Given the description of an element on the screen output the (x, y) to click on. 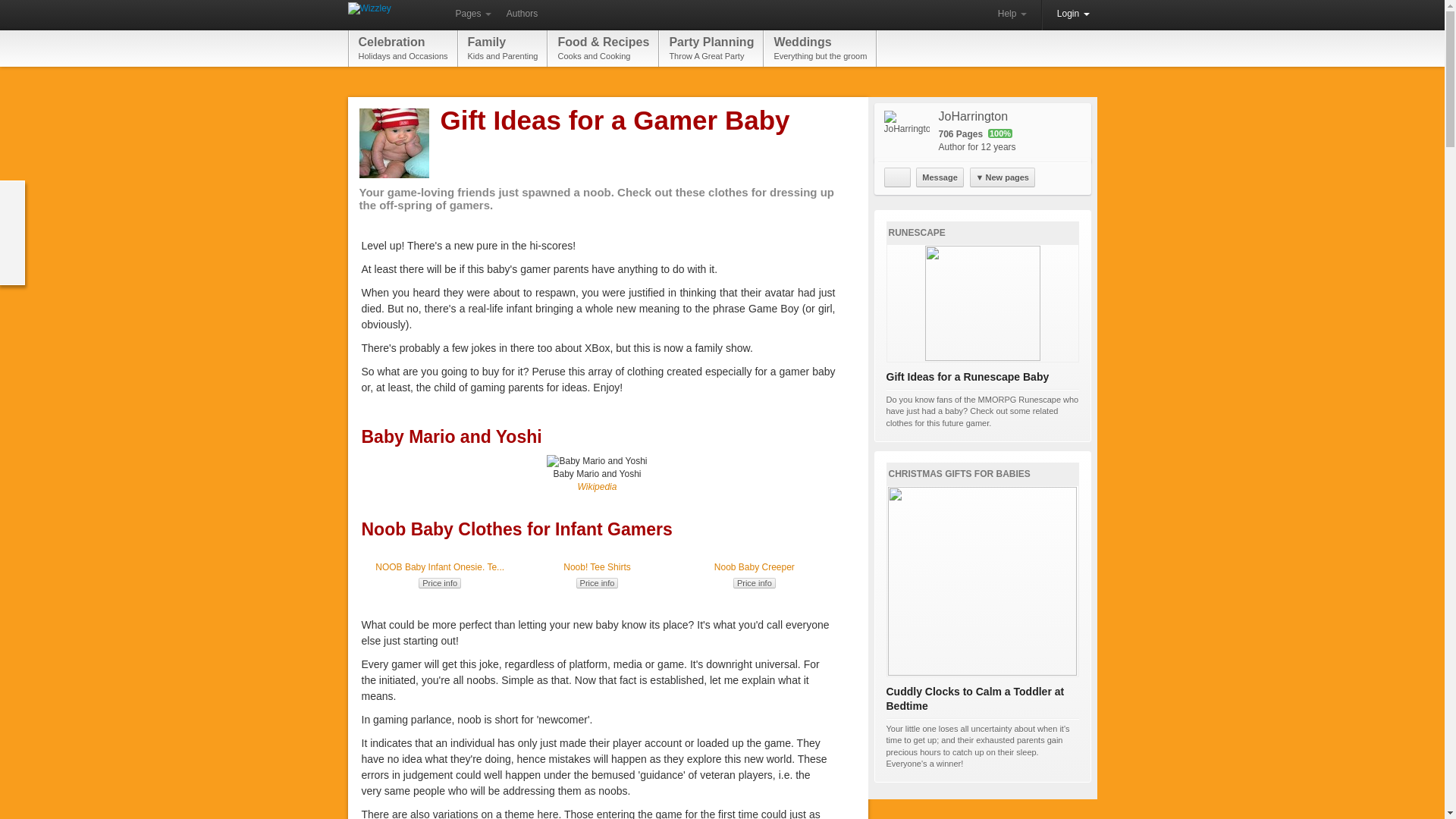
Price info (754, 583)
Price info (597, 583)
Pages (471, 14)
Price info (503, 48)
Wikipedia (440, 583)
Follow (597, 486)
Authors (897, 177)
NOOB Baby Infant Onesie. Te... (819, 48)
Help (521, 14)
Noob! Tee Shirts (439, 566)
Noob Baby Creeper (1011, 14)
Excellent author (596, 566)
